Given the description of an element on the screen output the (x, y) to click on. 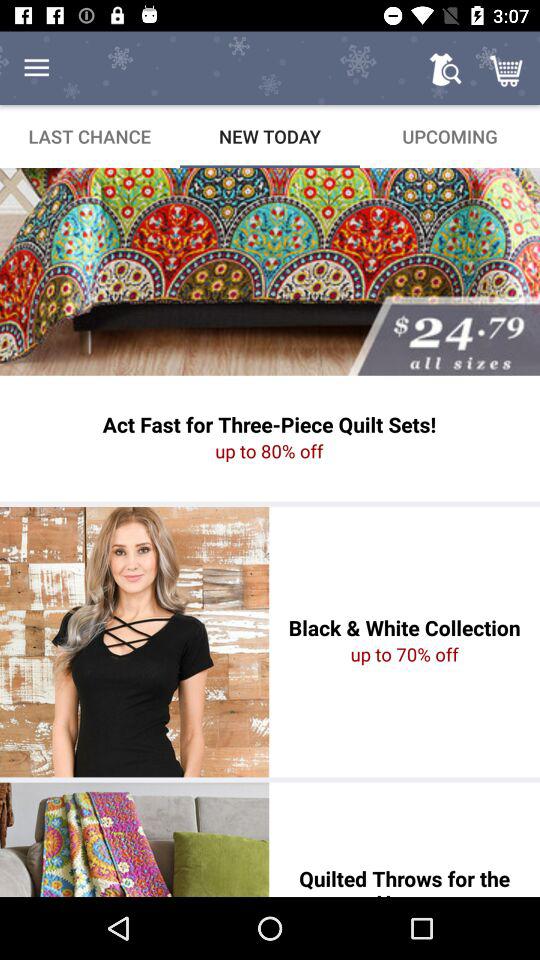
choose the item above the upcoming (508, 67)
